Given the description of an element on the screen output the (x, y) to click on. 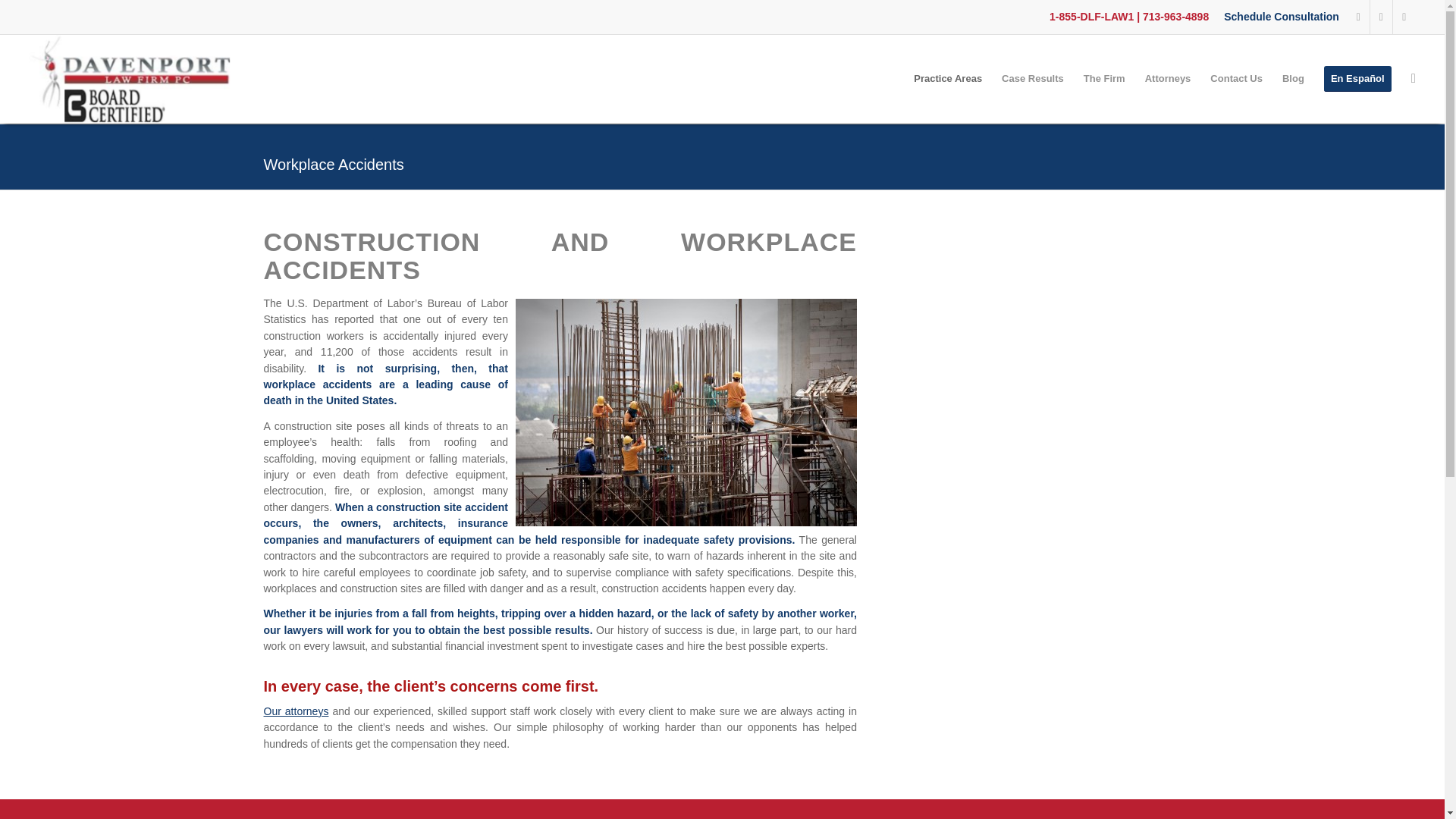
Schedule Consultation (1281, 15)
Attorneys (296, 711)
Practice Areas (947, 78)
Permanent Link: Workplace Accidents (333, 164)
Case Results (1032, 78)
